Given the description of an element on the screen output the (x, y) to click on. 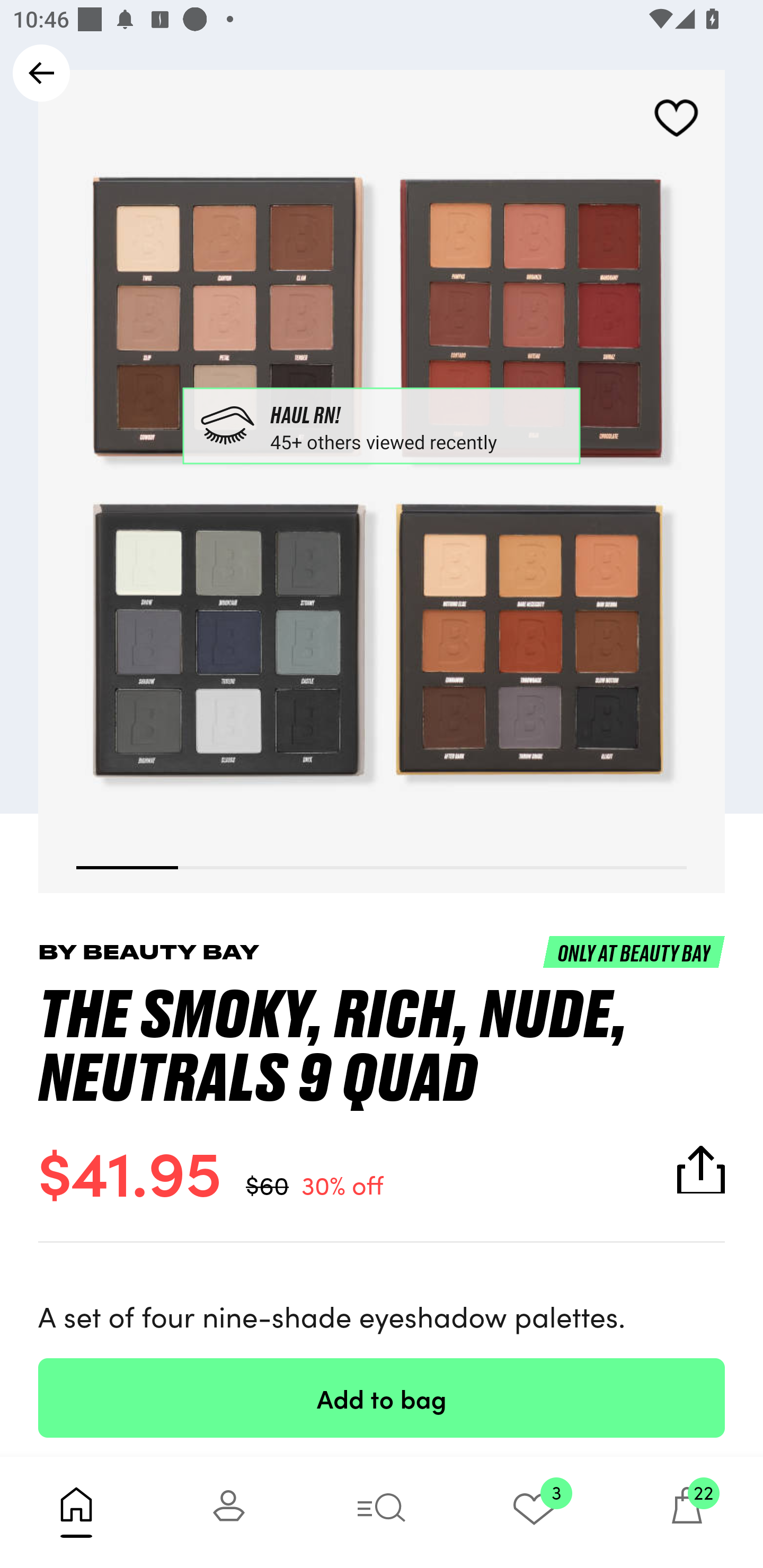
Add to bag (381, 1397)
3 (533, 1512)
22 (686, 1512)
